Given the description of an element on the screen output the (x, y) to click on. 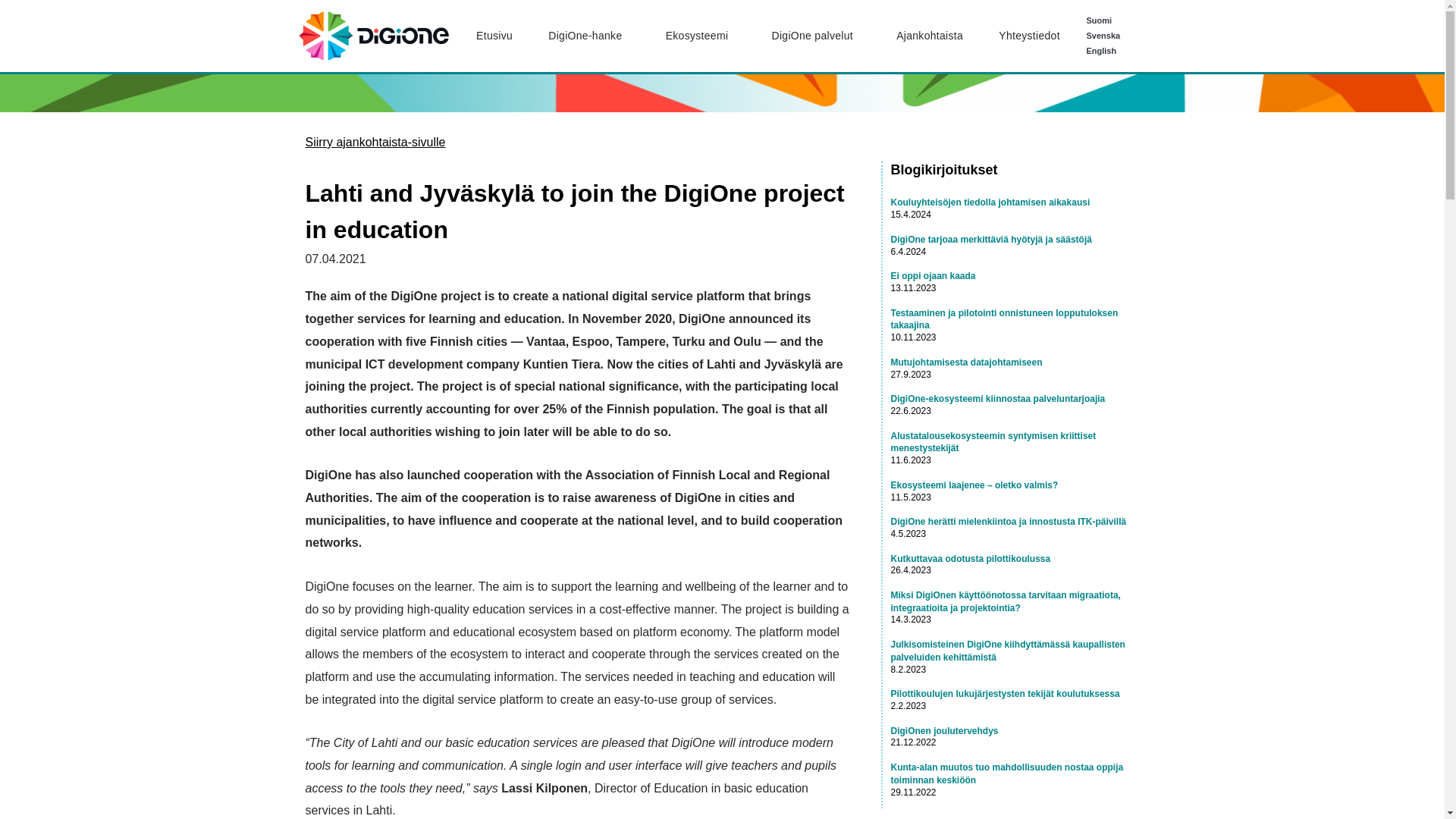
Suomi (1111, 20)
Yhteystiedot (1029, 35)
cropped-DigiOne-tunnus.png (372, 35)
Siirry ajankohtaista-sivulle (374, 141)
Svenska (1111, 35)
DigiOne-hanke (589, 35)
Ajankohtaista (930, 35)
English (1111, 50)
Ekosysteemi (700, 35)
DigiOne palvelut (816, 35)
Etusivu (494, 35)
